Given the description of an element on the screen output the (x, y) to click on. 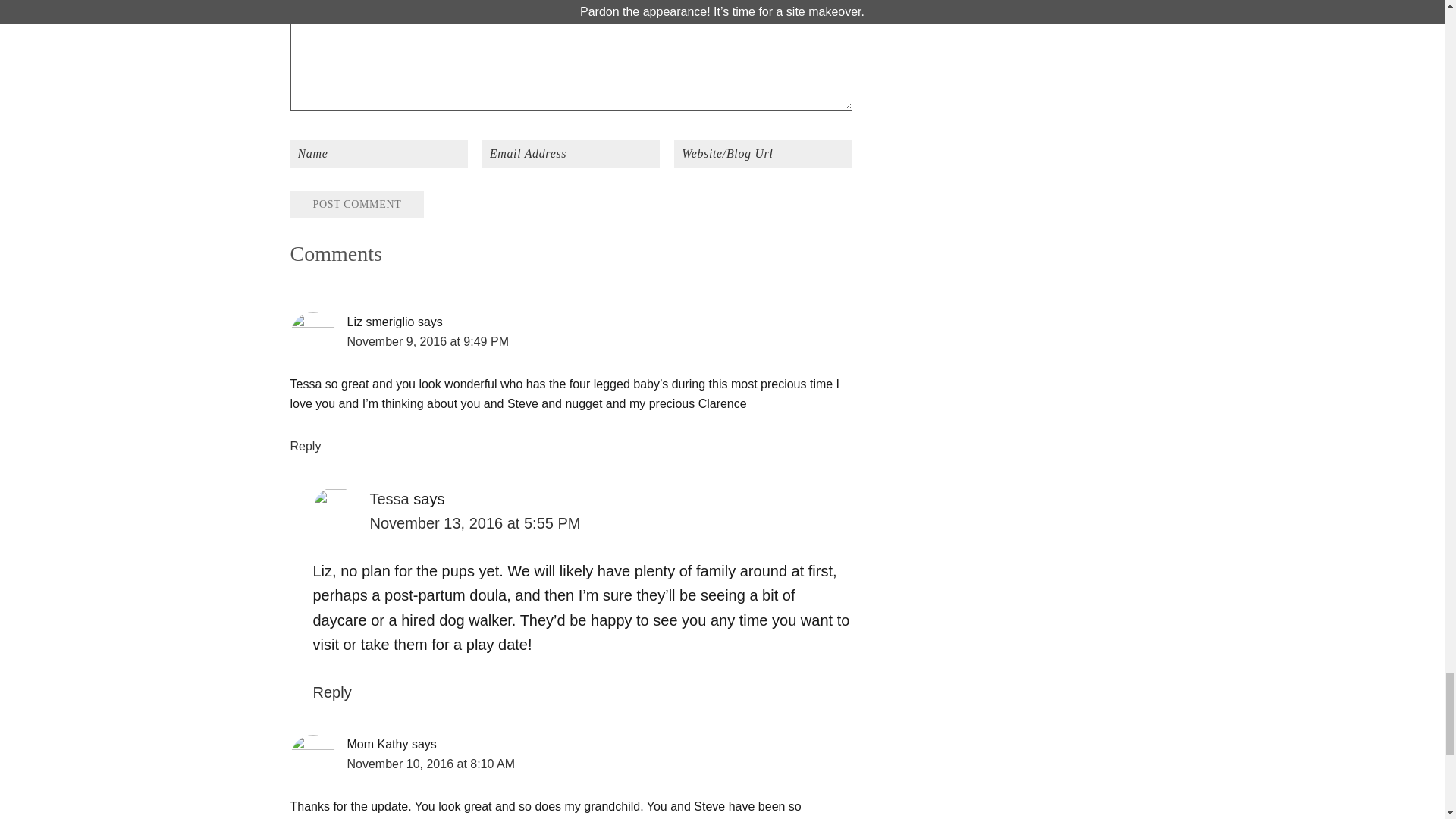
Post Comment (356, 204)
